Given the description of an element on the screen output the (x, y) to click on. 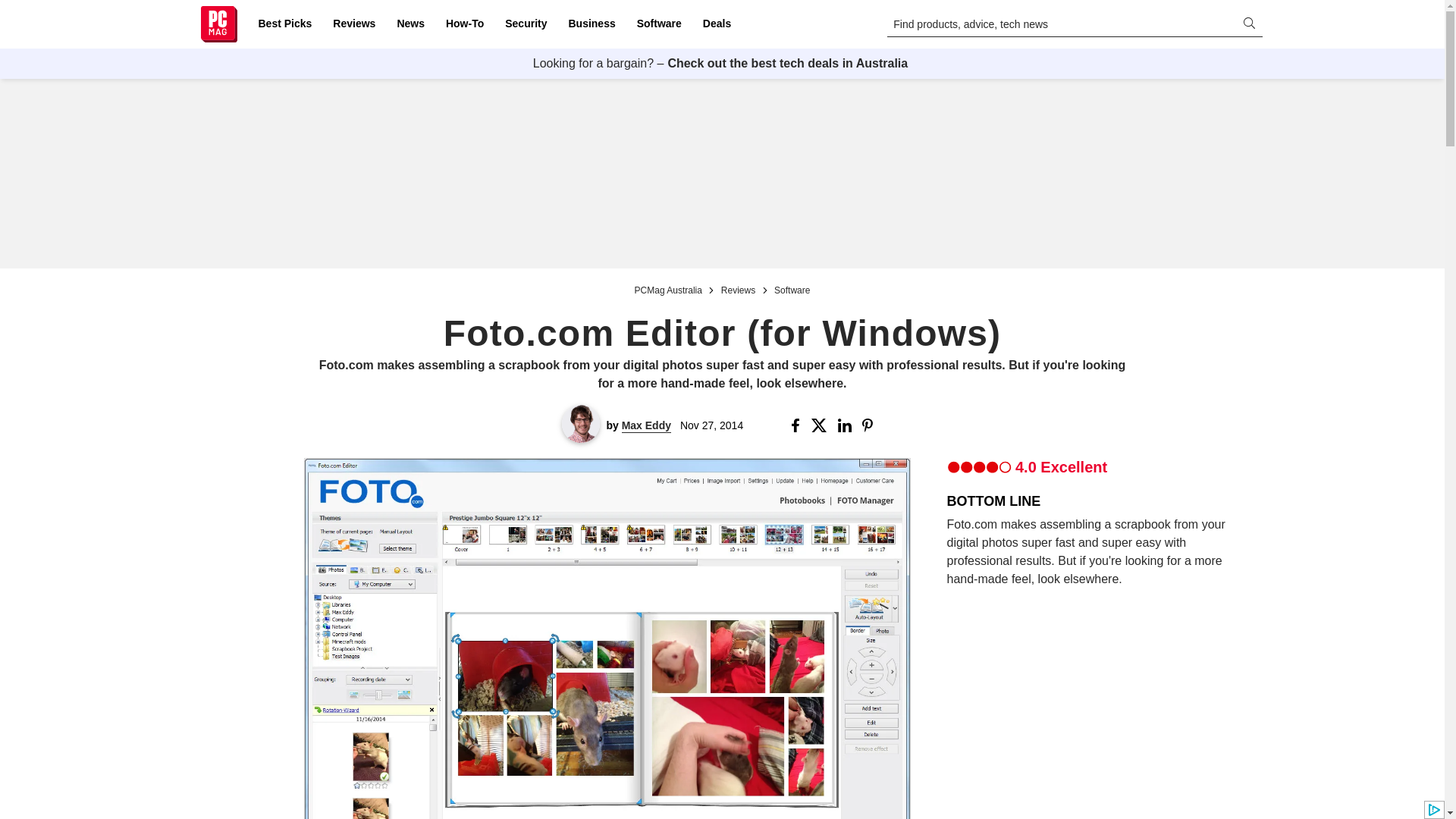
Best Picks (284, 24)
Business (591, 24)
Share this Story on X (820, 425)
Reviews (353, 24)
Share this Story on Facebook (798, 425)
Share this Story on Linkedin (847, 425)
Security (526, 24)
Share this Story on Pinterest (871, 425)
How-To (464, 24)
